Given the description of an element on the screen output the (x, y) to click on. 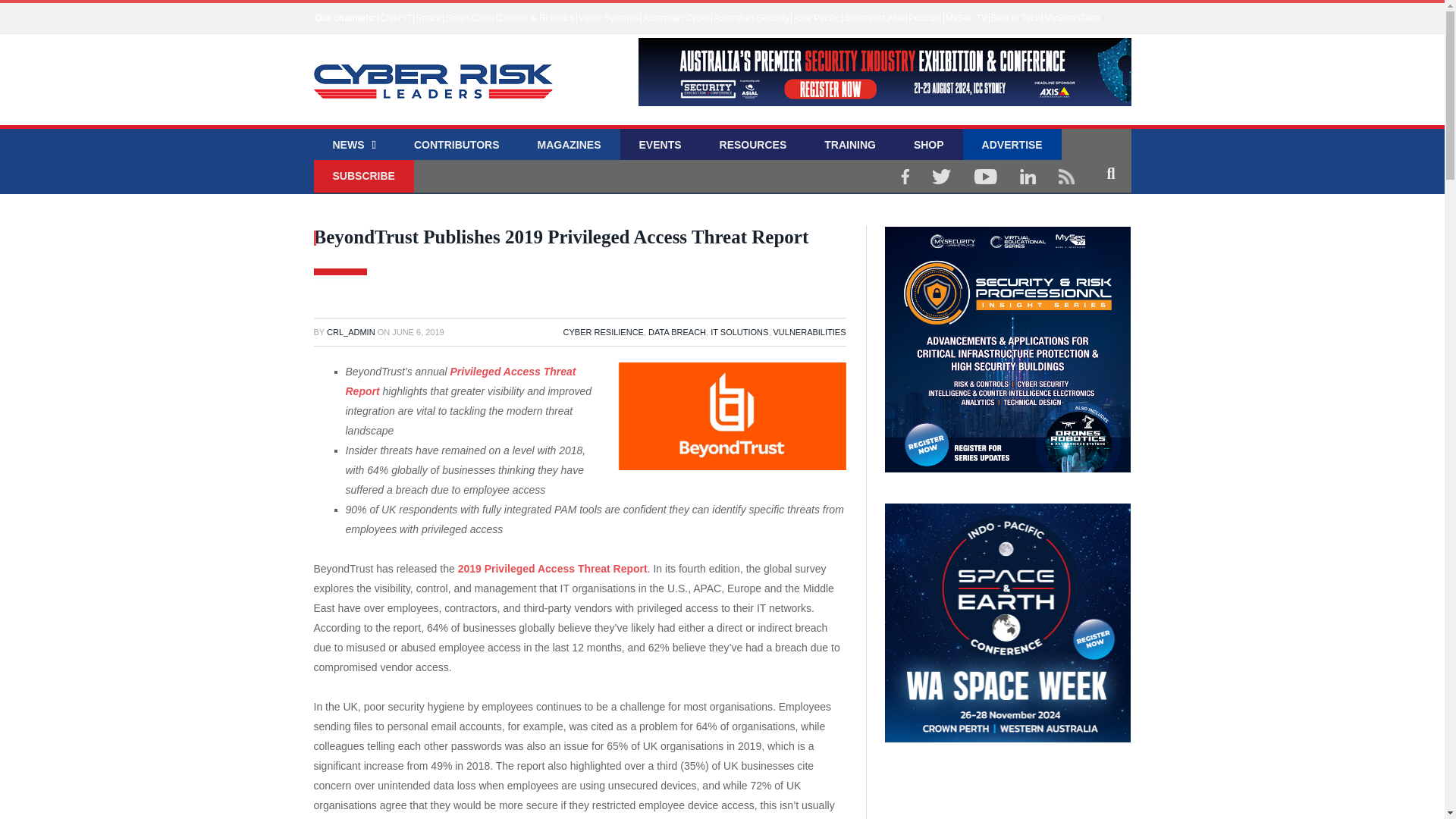
Australian Security (750, 18)
Australian Cyber (675, 18)
Space (427, 18)
Asia Pacific (815, 18)
2019-06-06 (417, 331)
Video Systems (608, 18)
Southeast Asia (873, 18)
RESOURCES (753, 145)
NEWS (354, 145)
ADVERTISE (1011, 145)
Our channels: (346, 18)
Podcast (923, 18)
SUBSCRIBE (363, 175)
SHOP (928, 145)
MySec.TV (965, 18)
